Given the description of an element on the screen output the (x, y) to click on. 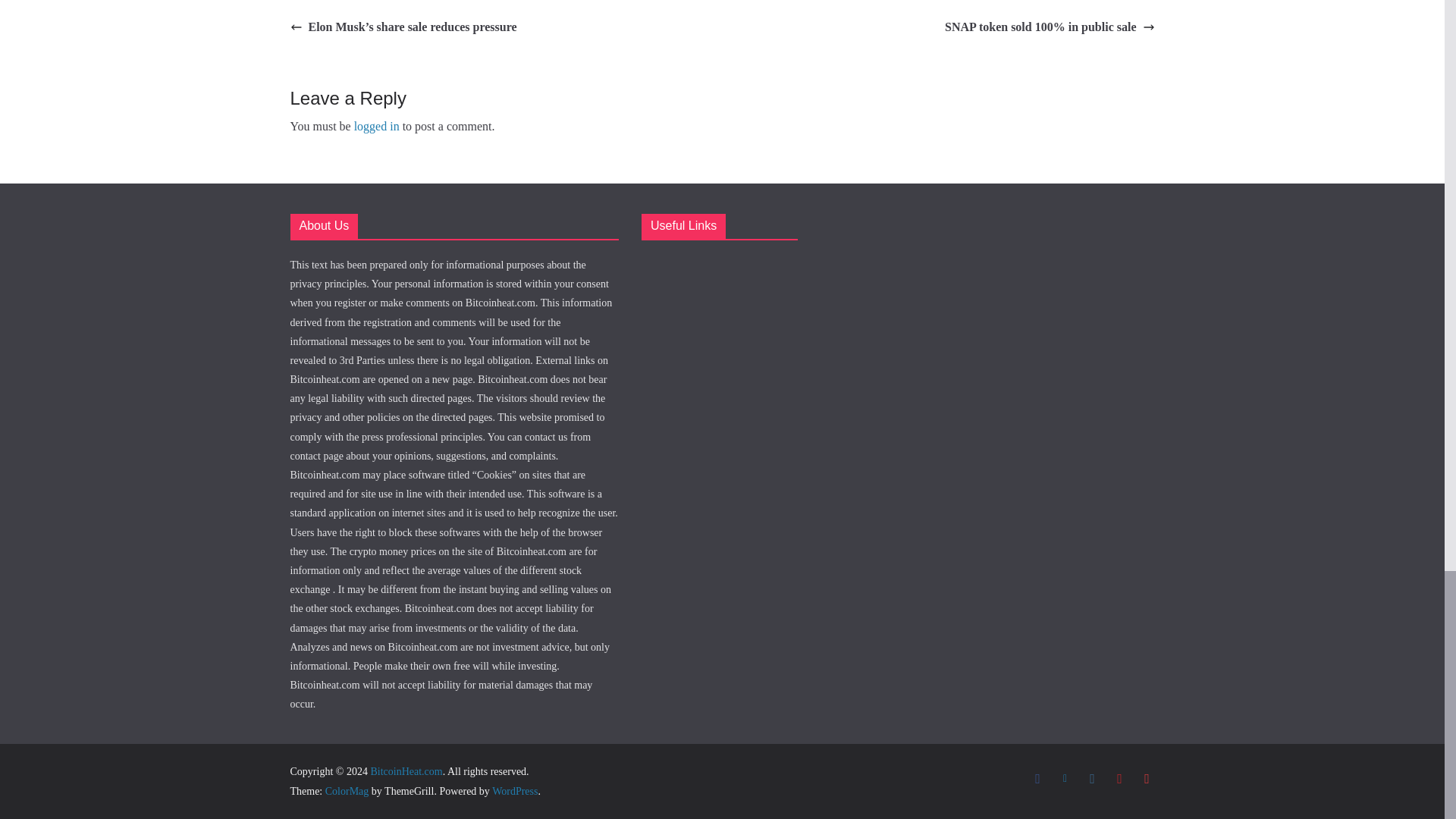
BitcoinHeat.com (405, 771)
WordPress (514, 790)
BitcoinHeat.com (405, 771)
logged in (375, 125)
ColorMag (346, 790)
ColorMag (346, 790)
